Given the description of an element on the screen output the (x, y) to click on. 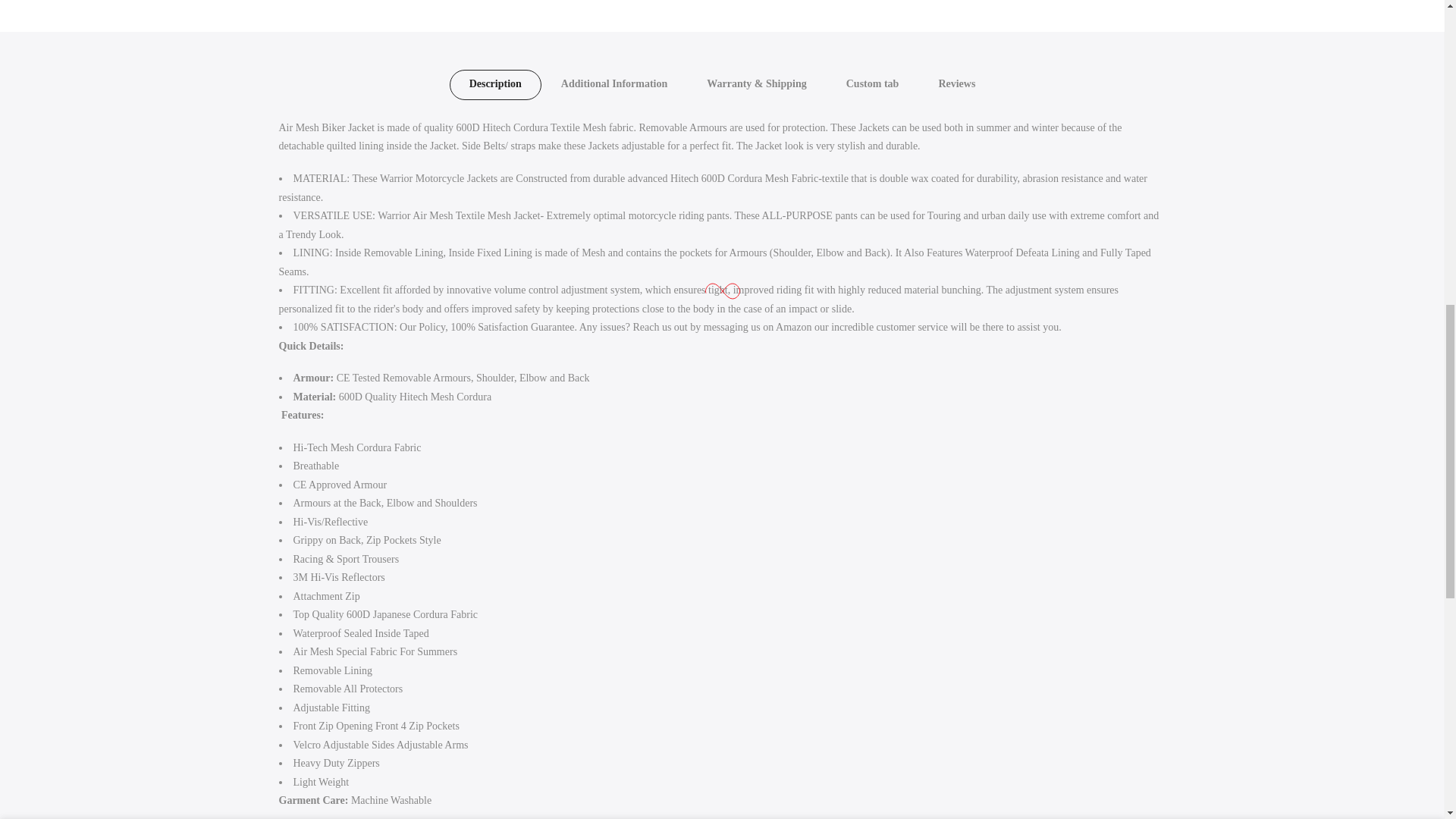
1 (1001, 35)
